Given the description of an element on the screen output the (x, y) to click on. 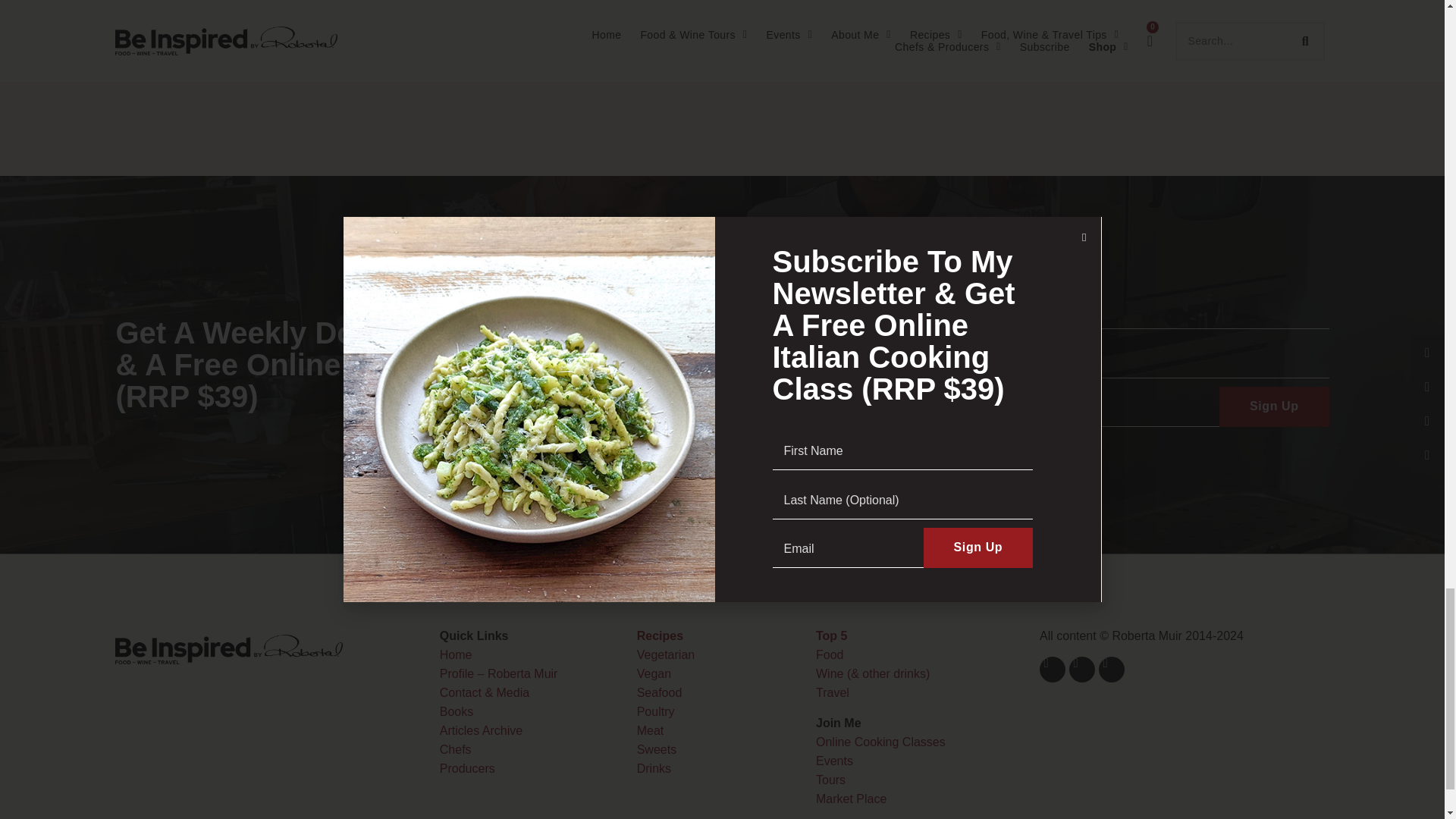
Sign up (1274, 406)
